Given the description of an element on the screen output the (x, y) to click on. 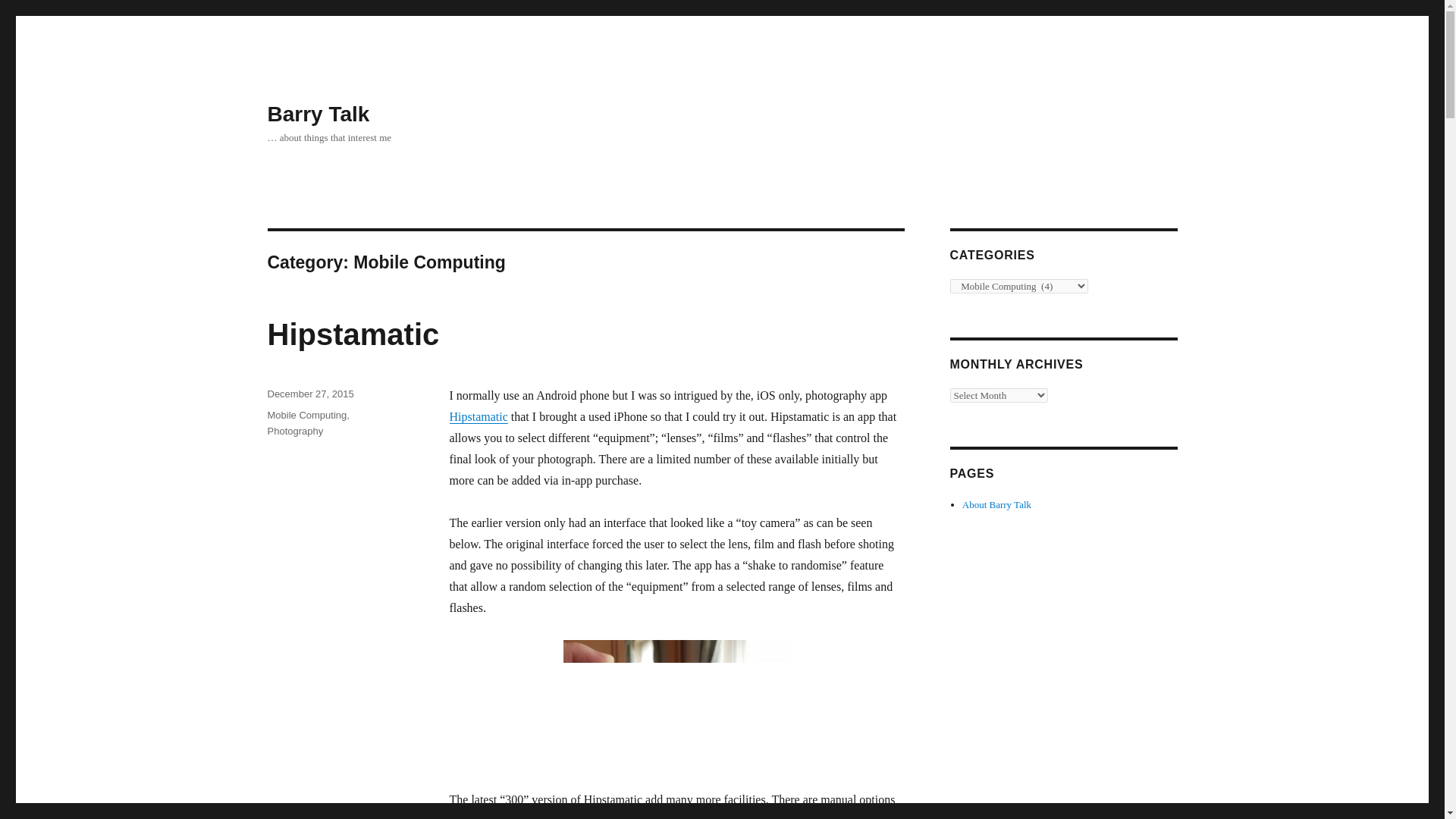
Photography (294, 430)
Barry Talk (317, 114)
Mobile Computing (306, 414)
Hipstamatic (352, 334)
December 27, 2015 (309, 393)
Hipstamatic (477, 416)
